Given the description of an element on the screen output the (x, y) to click on. 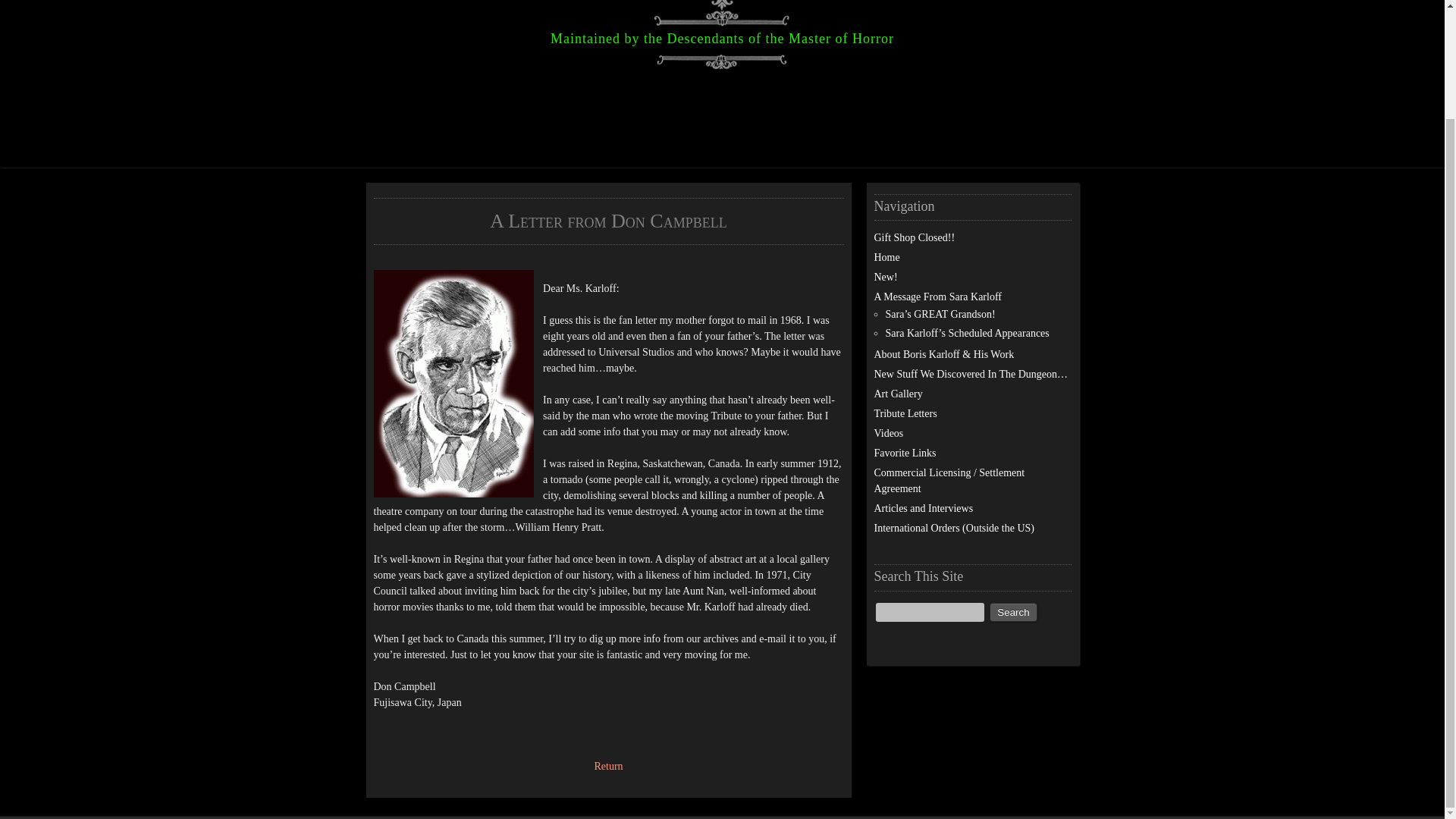
Home (886, 256)
Tribute Letters (904, 413)
Videos (887, 432)
A Message From Sara Karloff (937, 296)
Art Gallery (897, 393)
Boris Karloff Tribute Letters (608, 766)
Favorite Links (904, 452)
Gift Shop Closed!! (914, 237)
Return (608, 766)
Search (1013, 611)
